Given the description of an element on the screen output the (x, y) to click on. 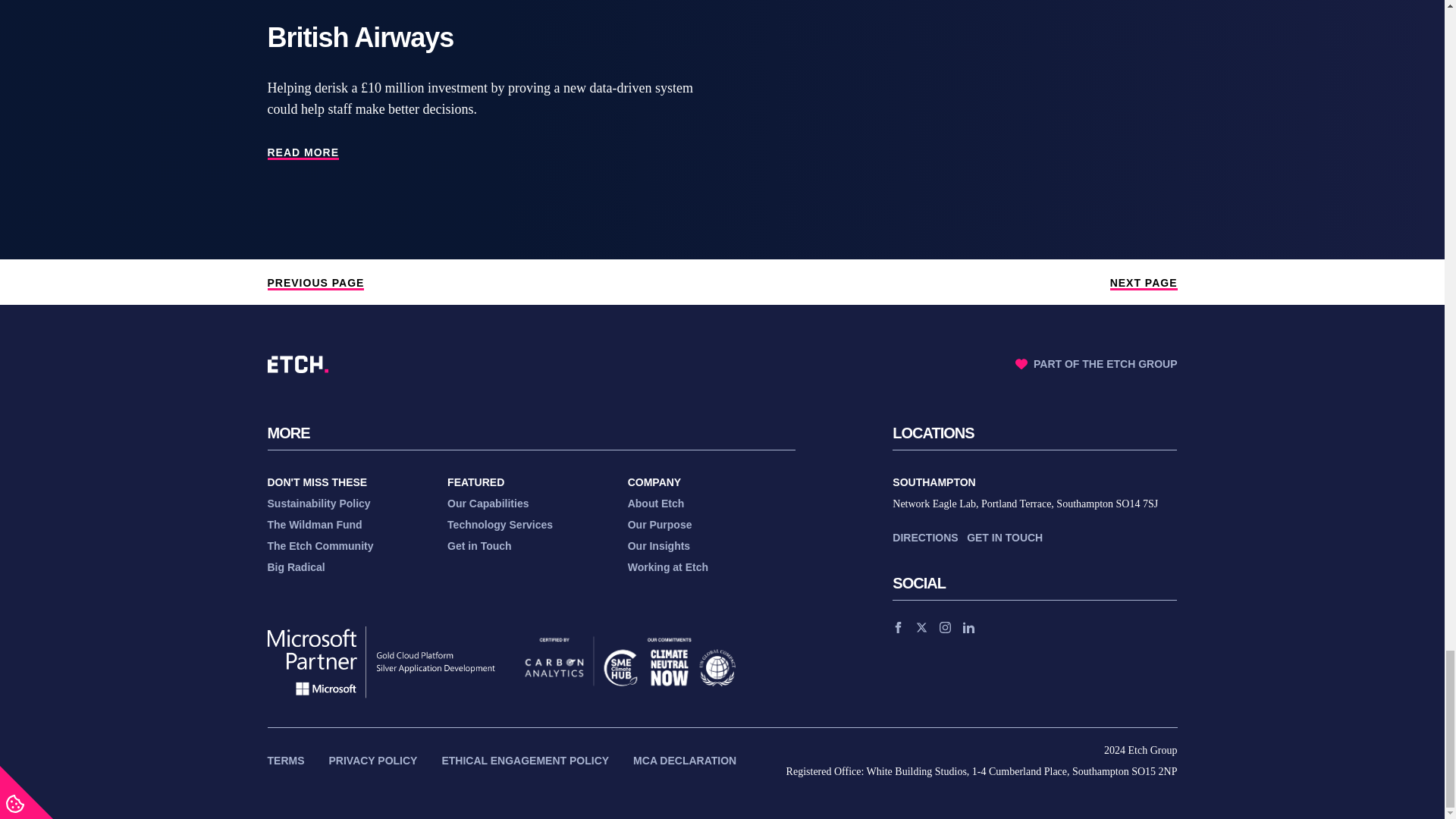
Etch - Home (296, 364)
The Etch Community (319, 545)
facebook (898, 627)
Get in Touch (1004, 537)
PREVIOUS PAGE (315, 283)
Sustainability Policy (317, 503)
x (921, 627)
The Wildman Fund (313, 524)
instagram (944, 627)
PART OF THE ETCH GROUP (1095, 363)
Directions (925, 537)
NEXT PAGE (1143, 283)
READ MORE (302, 152)
